Given the description of an element on the screen output the (x, y) to click on. 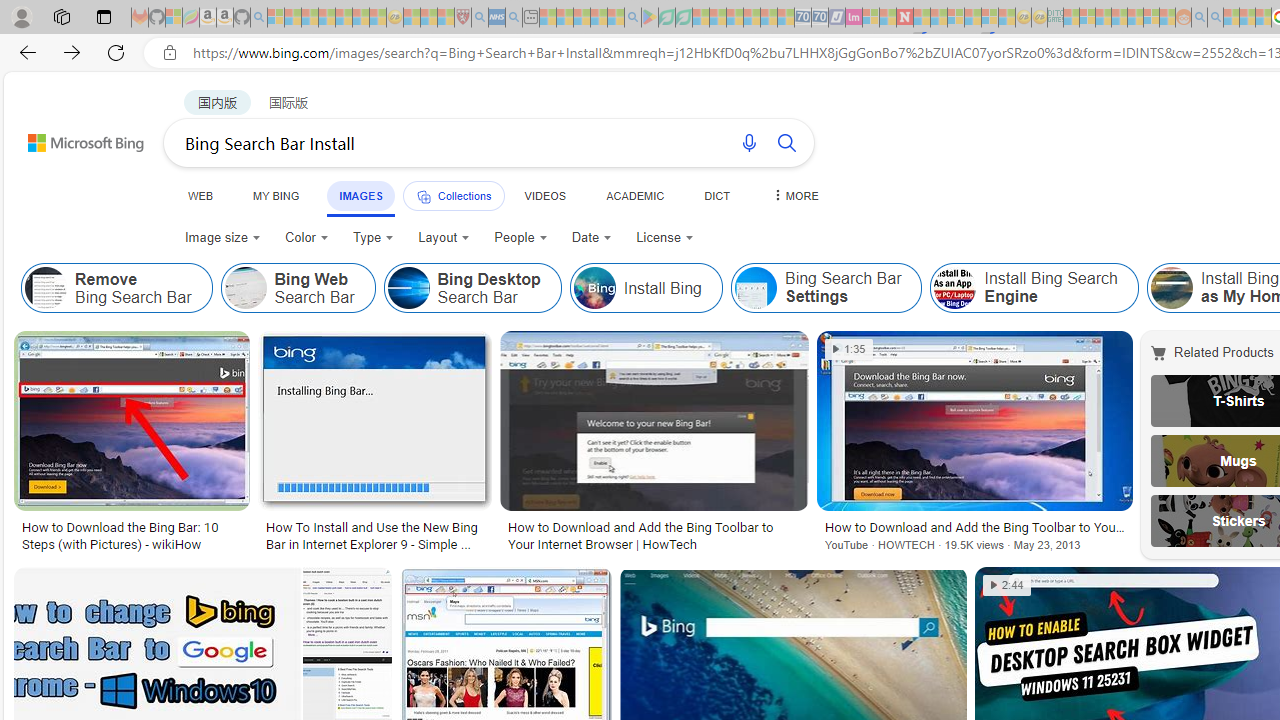
Date (591, 237)
Class: b_pri_nav_svg (423, 196)
Install Bing as My Homepage (1170, 287)
Remove Bing Search Bar (116, 287)
People (521, 237)
WEB (201, 195)
Layout (443, 237)
Image size (221, 237)
